Given the description of an element on the screen output the (x, y) to click on. 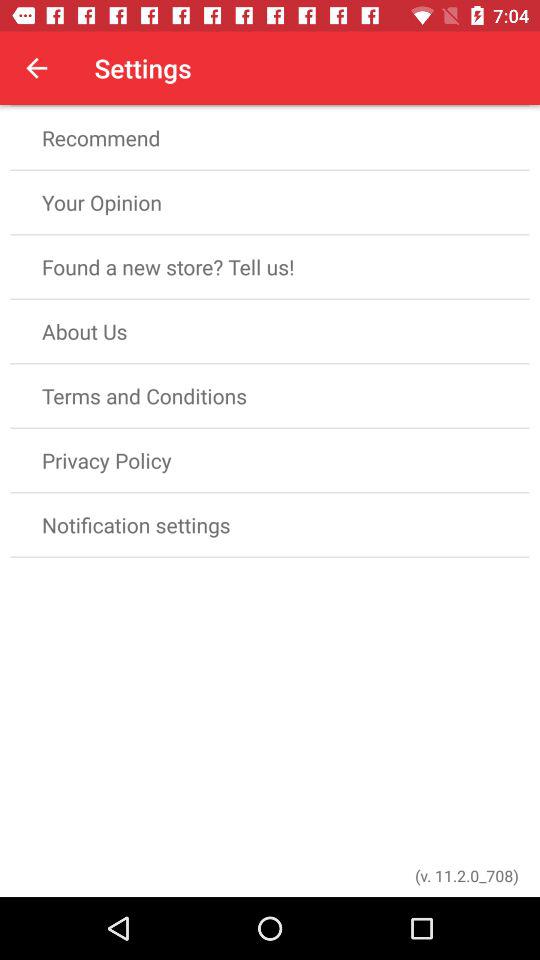
press the item below rate app item (269, 137)
